Given the description of an element on the screen output the (x, y) to click on. 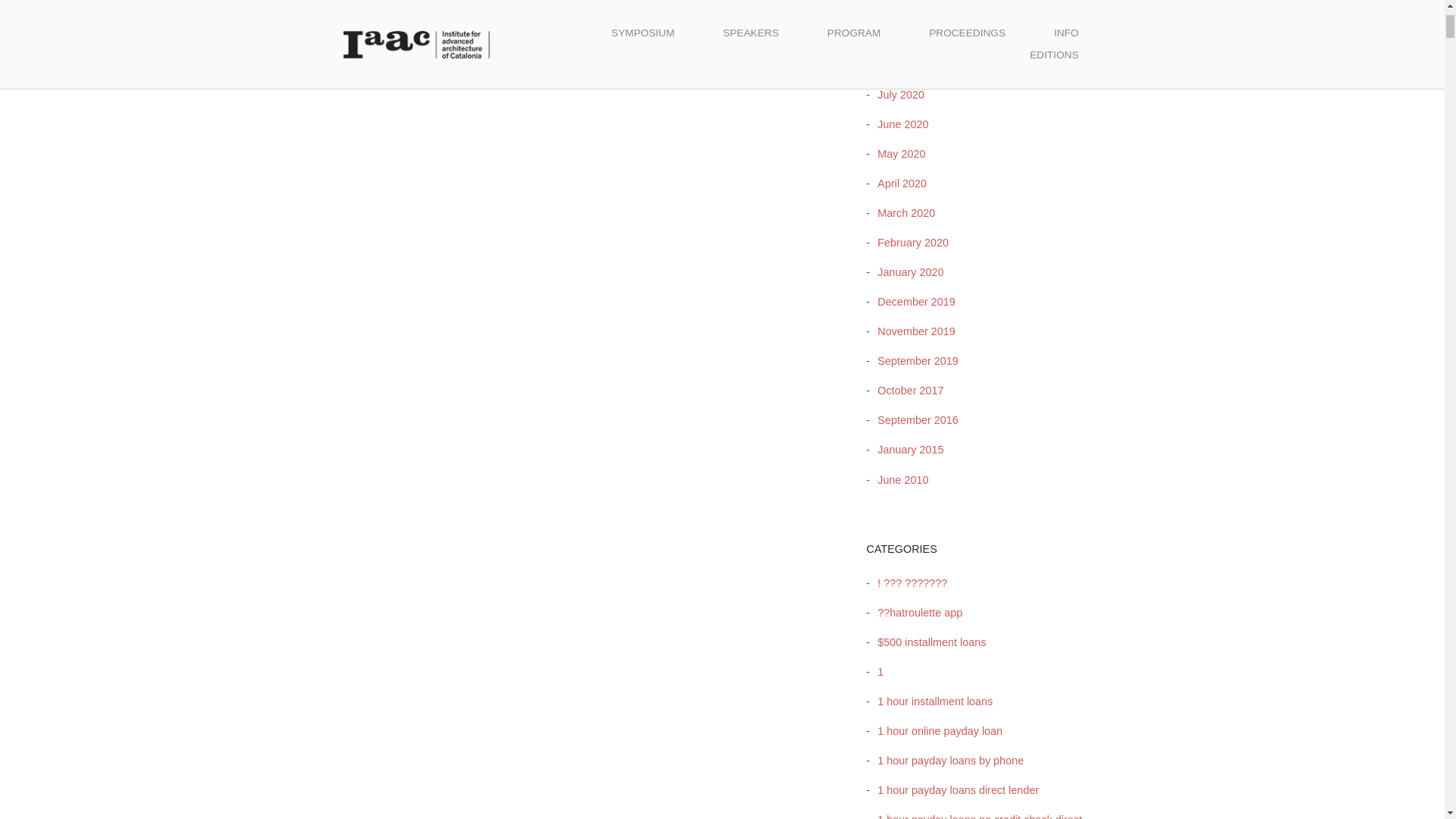
June 2020 (898, 123)
August 2020 (904, 64)
September 2020 (913, 35)
July 2020 (896, 94)
October 2020 (906, 6)
